Given the description of an element on the screen output the (x, y) to click on. 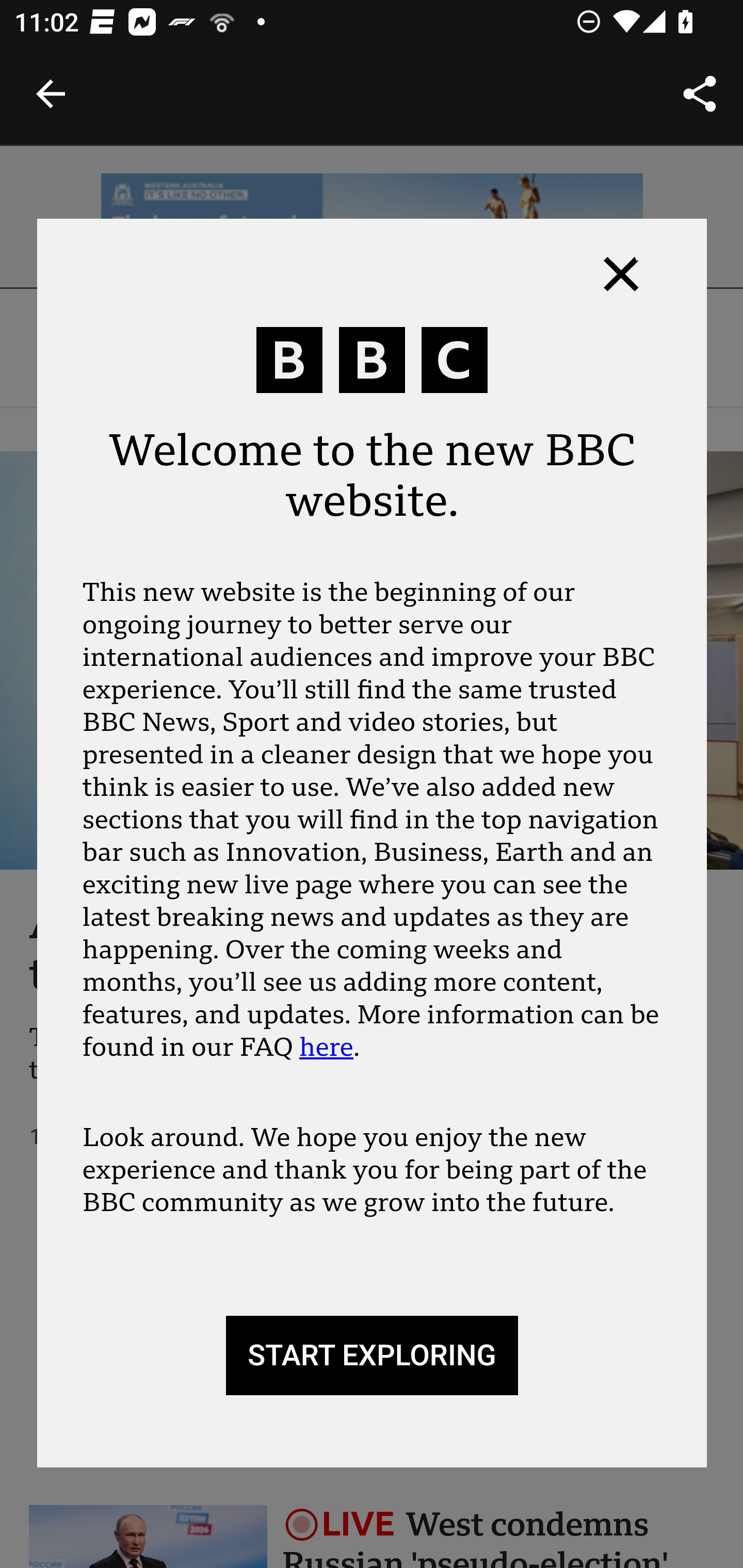
Back (50, 93)
Share (699, 93)
here (325, 1046)
START EXPLORING (371, 1355)
